Given the description of an element on the screen output the (x, y) to click on. 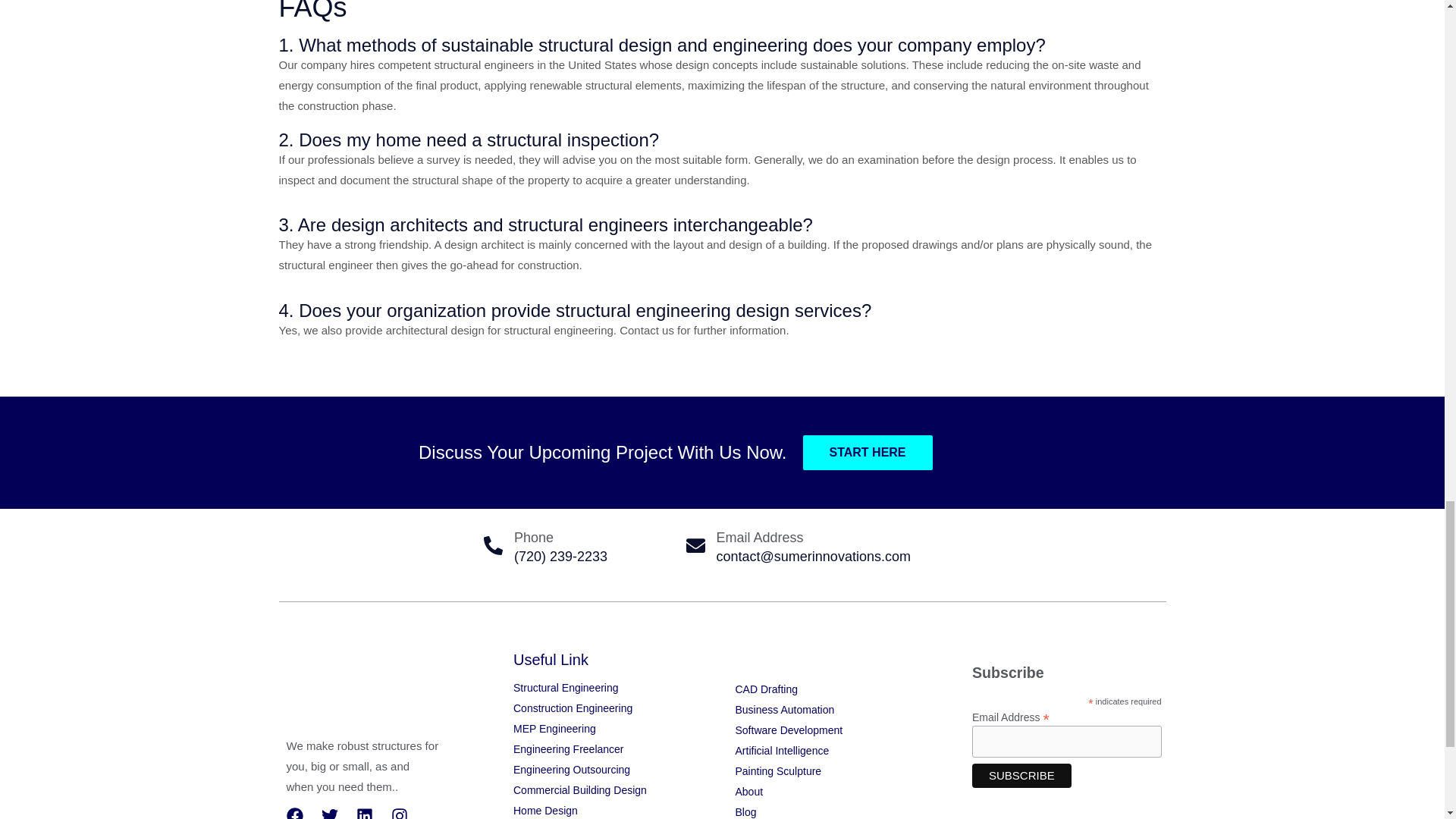
Subscribe (1021, 775)
